Given the description of an element on the screen output the (x, y) to click on. 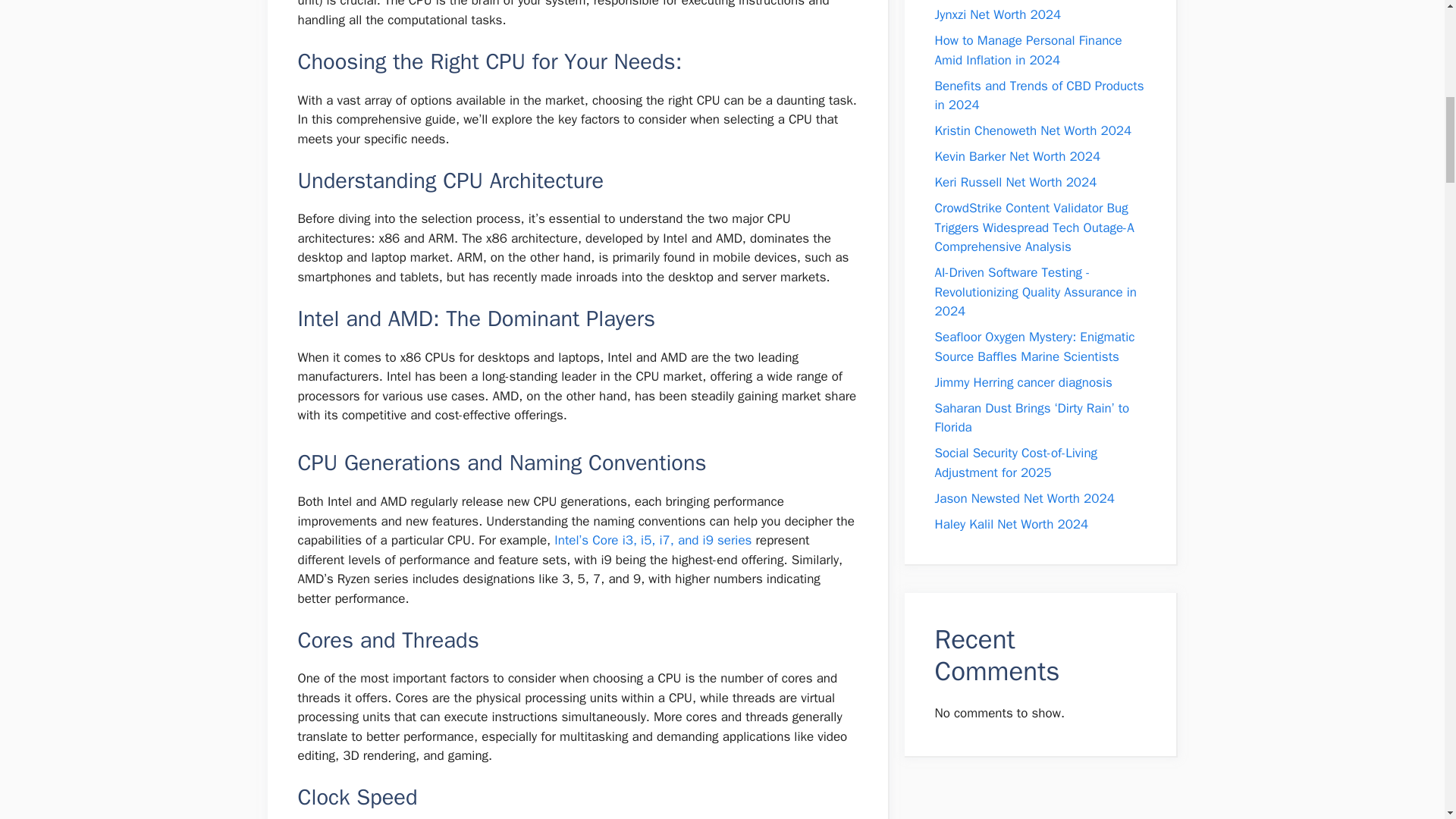
Kevin Barker Net Worth 2024 (1017, 156)
Jynxzi Net Worth 2024 (997, 14)
How to Manage Personal Finance Amid Inflation in 2024 (1027, 49)
Keri Russell Net Worth 2024 (1015, 182)
Benefits and Trends of CBD Products in 2024 (1038, 94)
Kristin Chenoweth Net Worth 2024 (1032, 130)
